Given the description of an element on the screen output the (x, y) to click on. 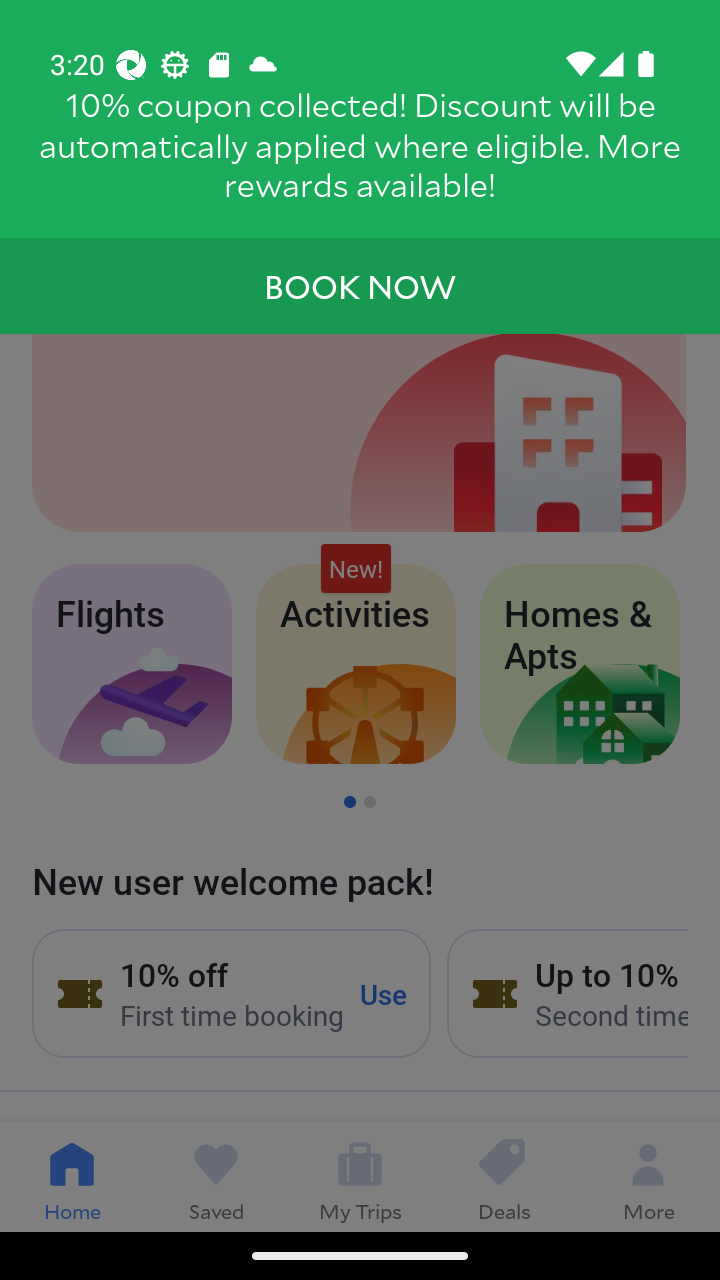
BOOK NOW (360, 286)
